Given the description of an element on the screen output the (x, y) to click on. 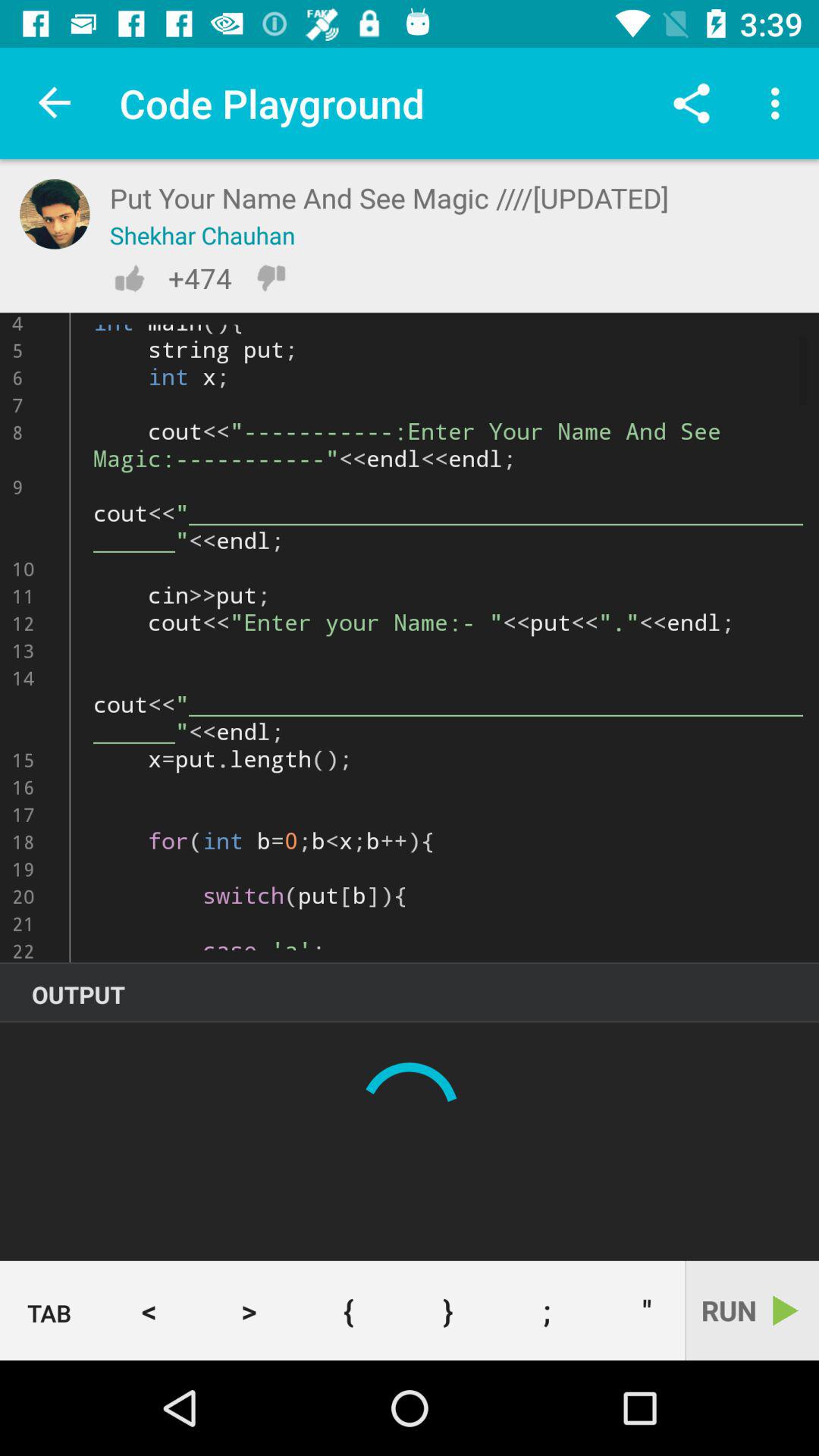
go to profile (54, 214)
